Given the description of an element on the screen output the (x, y) to click on. 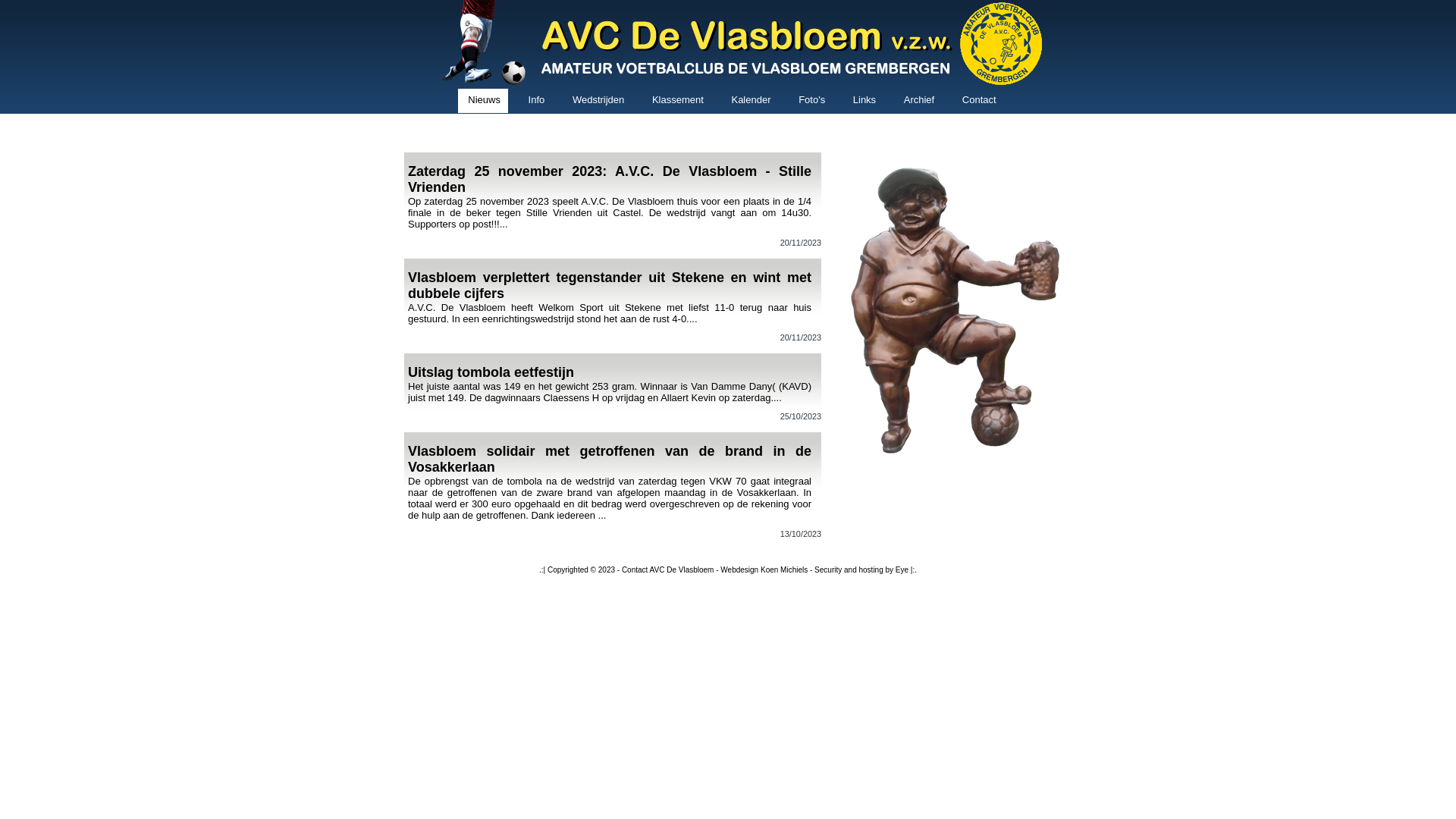
Info Element type: text (535, 100)
Kalender Element type: text (749, 100)
Webdesign Koen Michiels Element type: text (763, 569)
Wedstrijden Element type: text (596, 100)
Foto's Element type: text (810, 100)
Nieuws Element type: text (483, 100)
Contact AVC De Vlasbloem Element type: text (667, 569)
Contact Element type: text (978, 100)
Home Element type: hover (727, 84)
Archief Element type: text (917, 100)
Klassement Element type: text (676, 100)
Security and hosting by Eye Element type: text (861, 569)
Links Element type: text (863, 100)
